Given the description of an element on the screen output the (x, y) to click on. 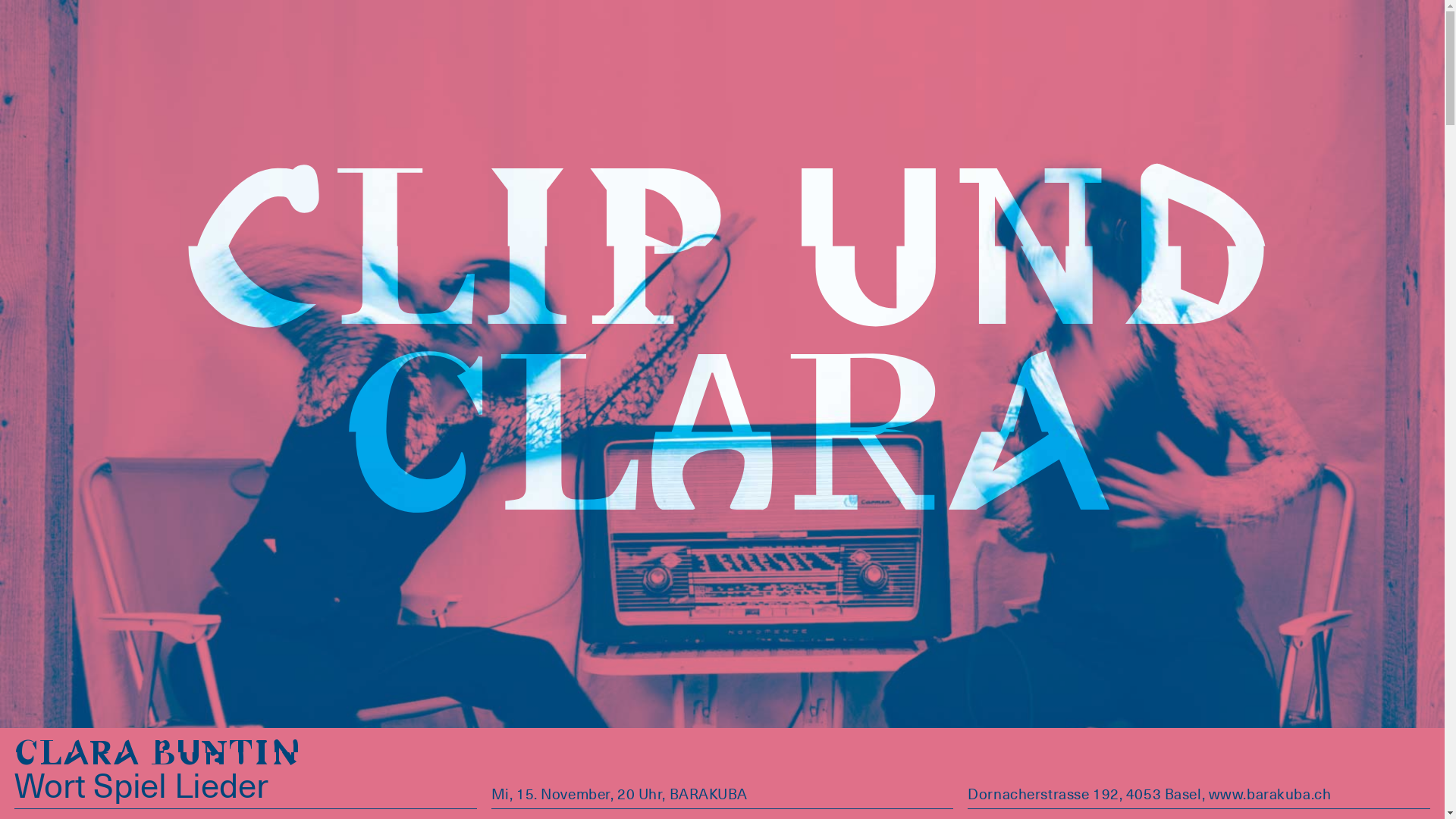
Clara Buntin
Wort Spiel Lieder Element type: text (158, 775)
